Given the description of an element on the screen output the (x, y) to click on. 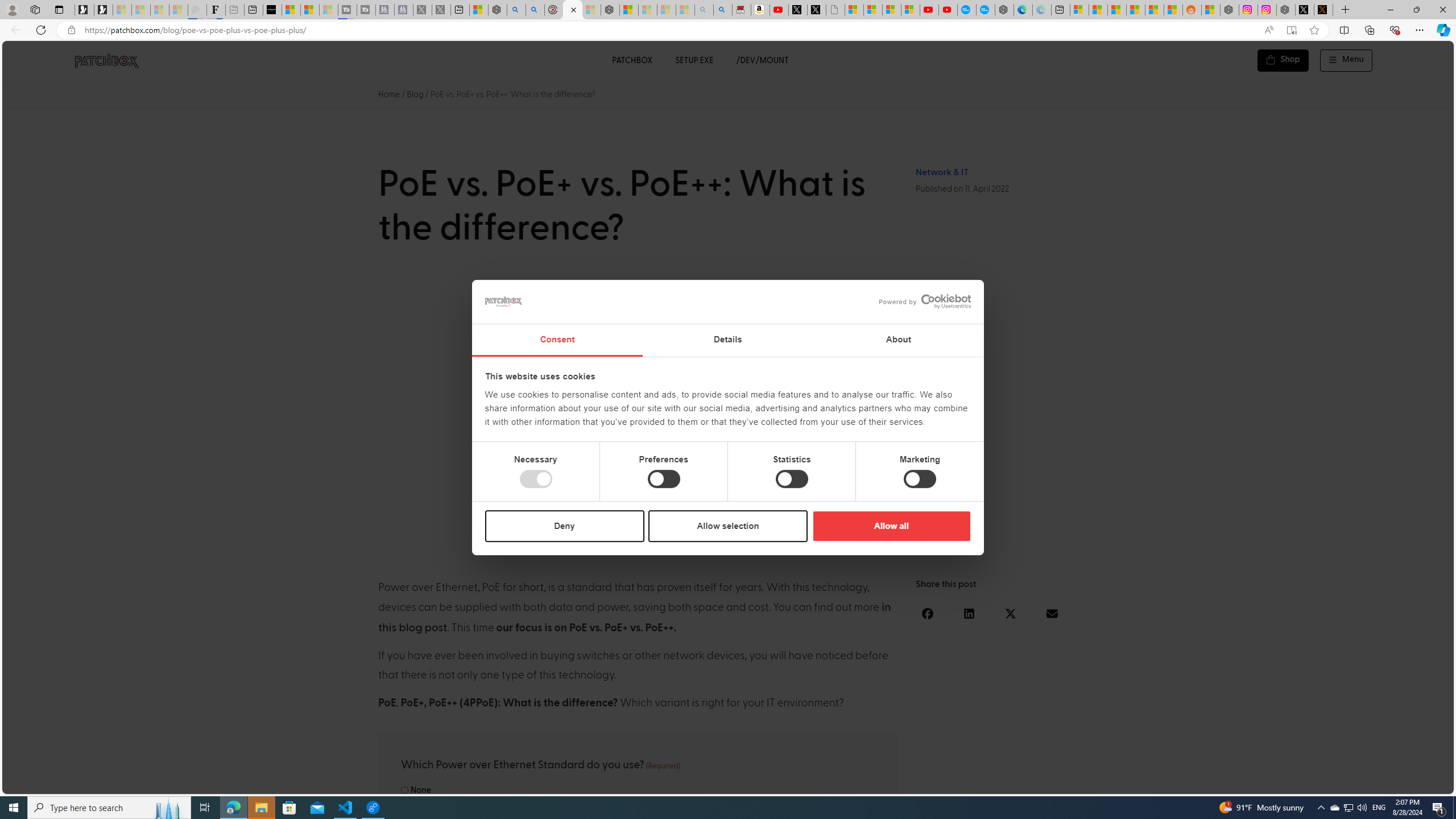
Language switcher : Klingon (1425, 782)
logo - opens in a new window (920, 301)
About (898, 340)
Language switcher : Croatian (1322, 782)
Language switcher : Slovak (1345, 782)
/DEV/MOUNT (762, 60)
poe ++ standard - Search (534, 9)
Network & IT (941, 171)
Shanghai, China hourly forecast | Microsoft Weather (1116, 9)
PoE vs. PoE+ vs. PoE++ (727, 413)
